Given the description of an element on the screen output the (x, y) to click on. 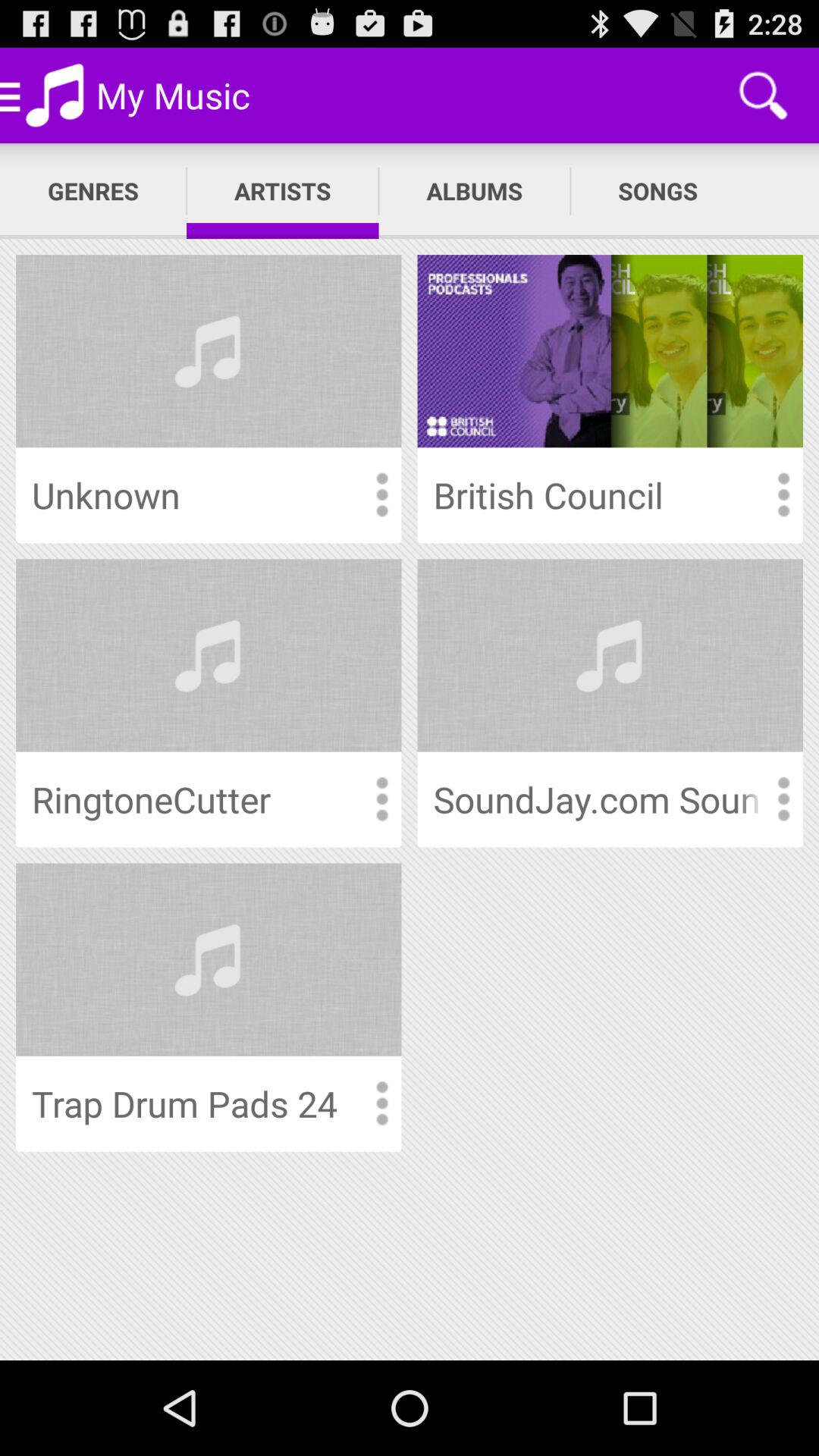
swipe to the genres item (93, 190)
